Given the description of an element on the screen output the (x, y) to click on. 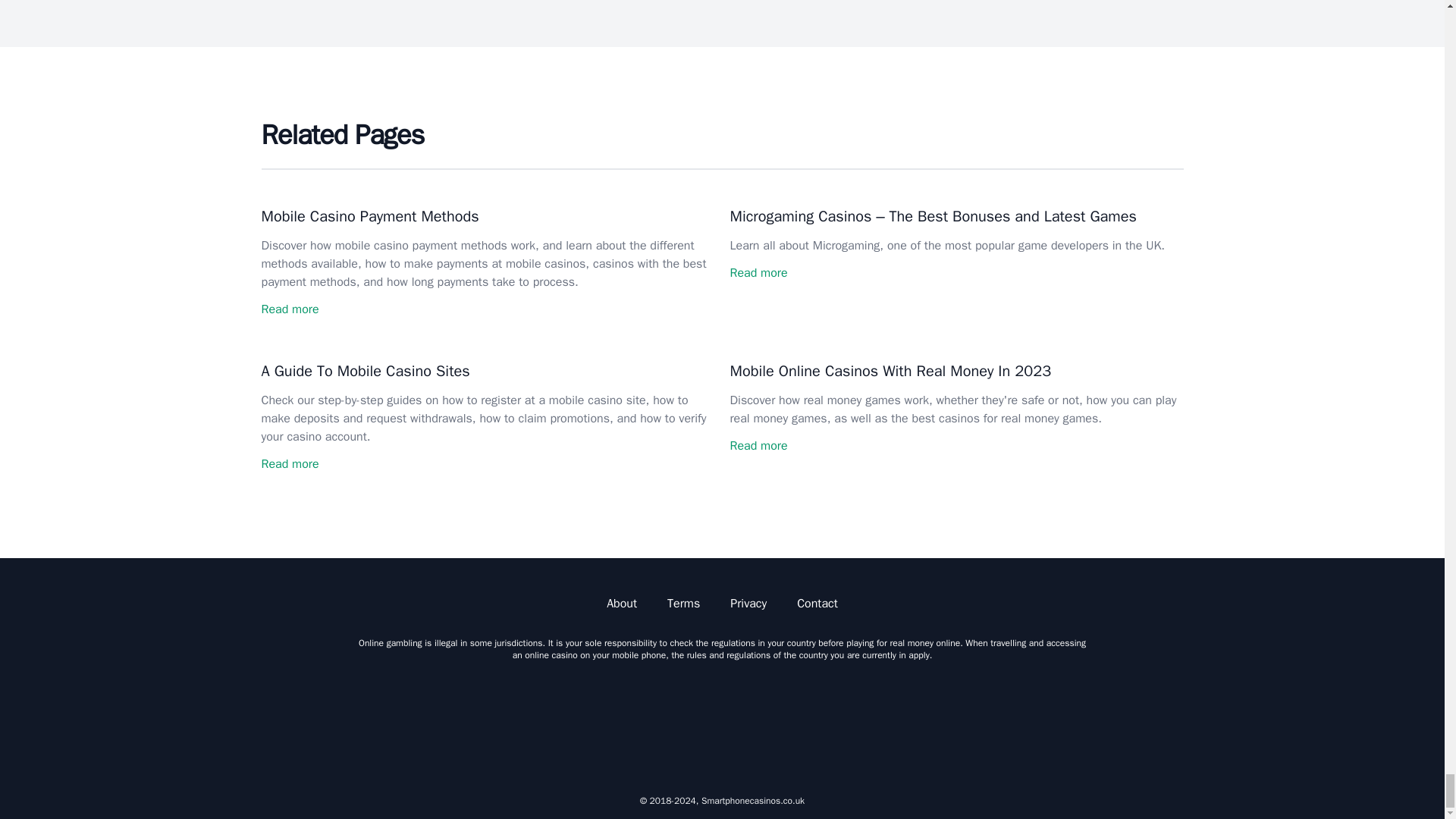
Gambling Commission Logo (581, 721)
BeGambleAware Logo (721, 721)
eCogra Logo (1003, 721)
GamCare Logo (863, 721)
